Given the description of an element on the screen output the (x, y) to click on. 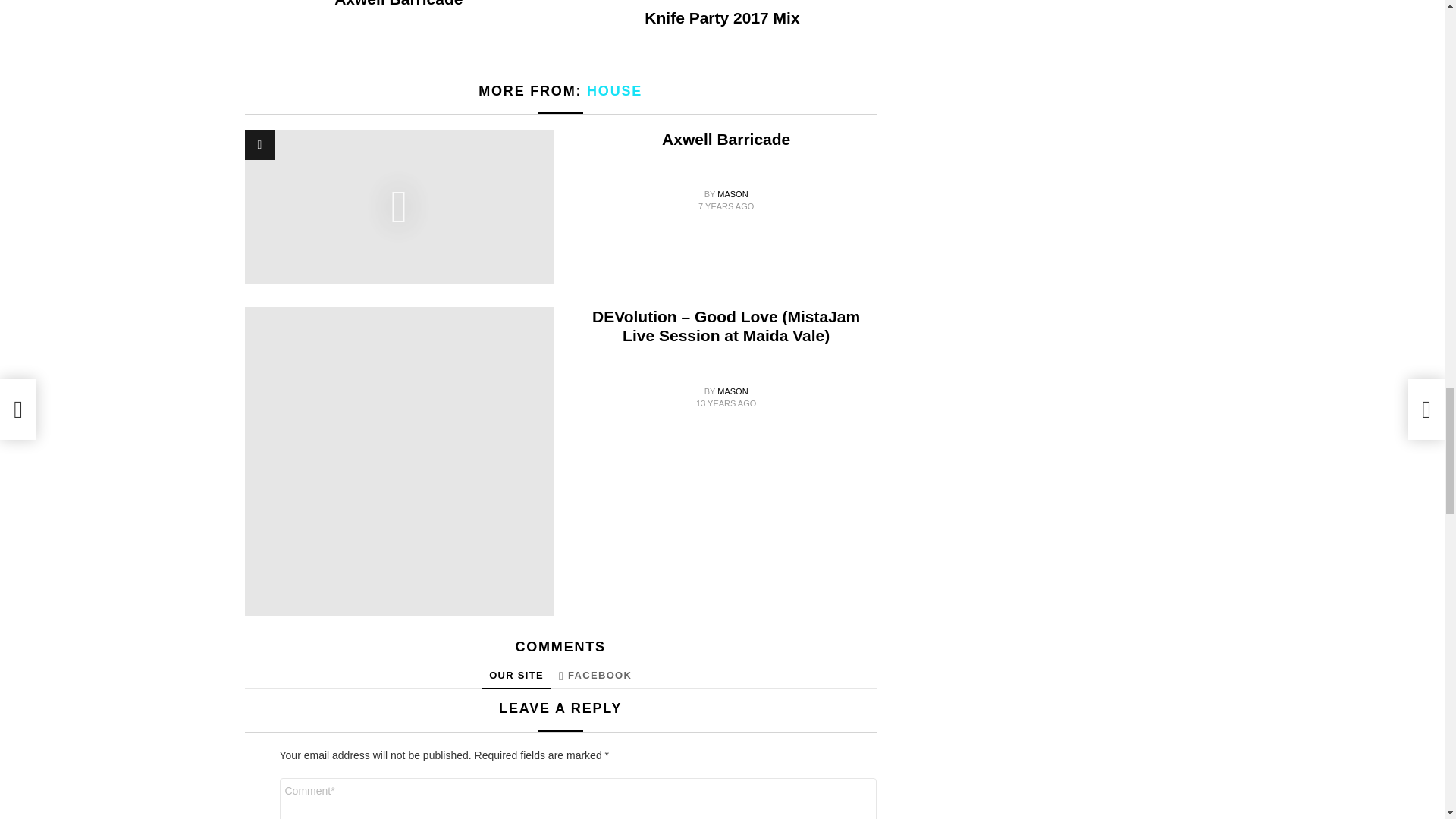
Knife Party 2017 Mix (722, 17)
Popular (259, 144)
EDM (721, 2)
Axwell Barricade (398, 3)
HOUSE (614, 90)
